Given the description of an element on the screen output the (x, y) to click on. 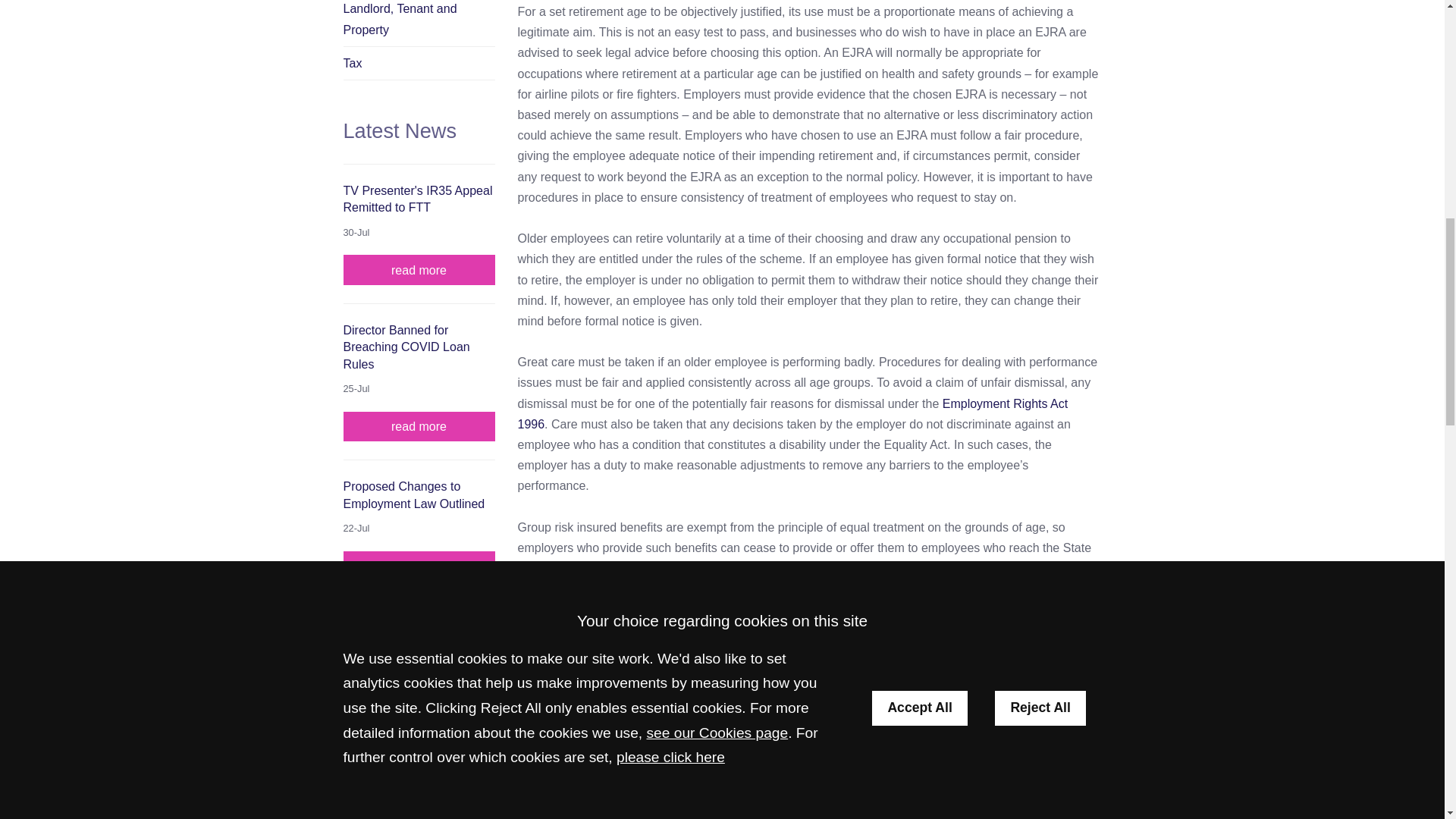
Tax (418, 63)
Landlord, Tenant and Property (418, 22)
Employment Rights Act 1996 (791, 413)
